Given the description of an element on the screen output the (x, y) to click on. 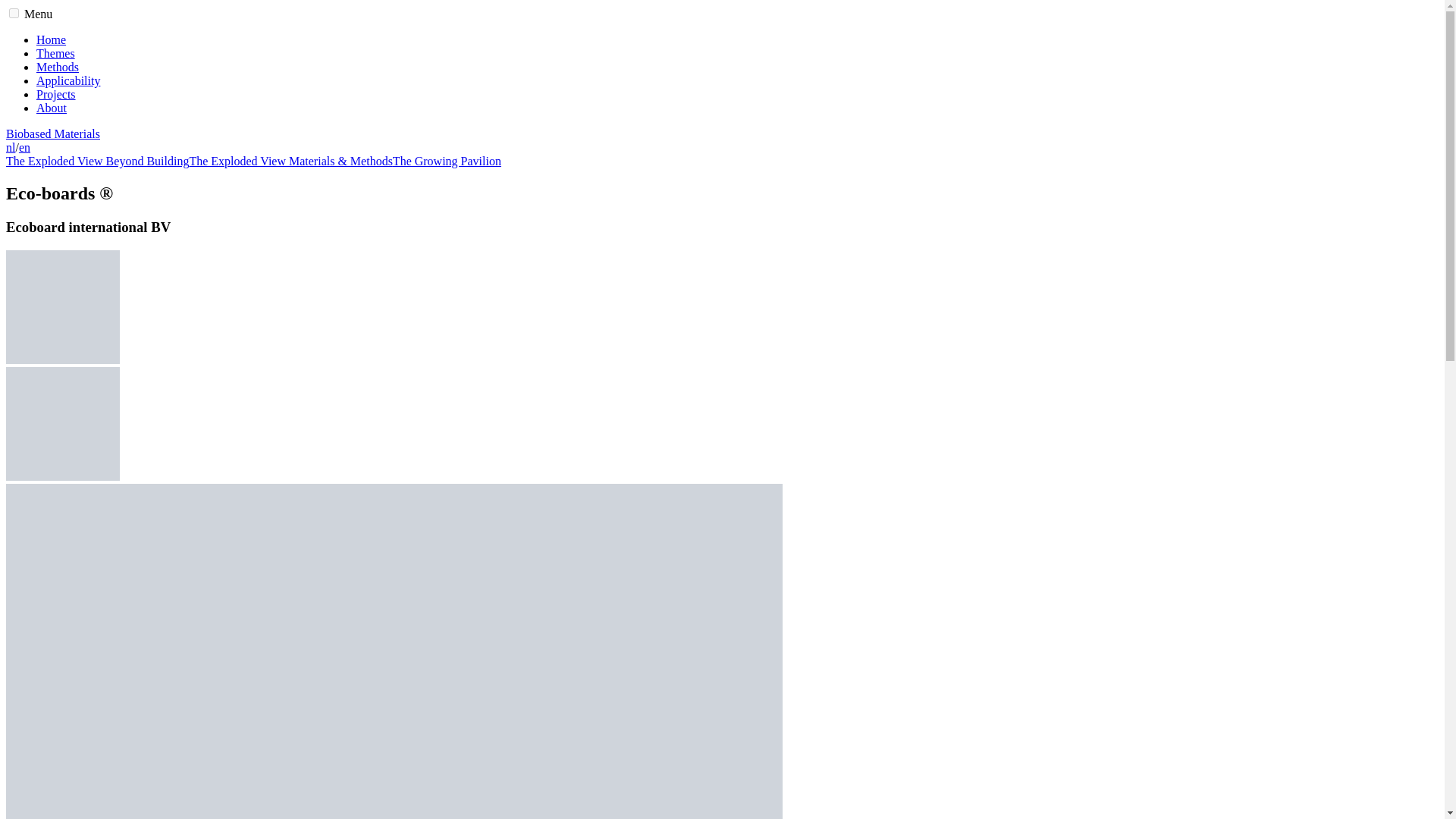
Biobased Materials (52, 133)
Methods (57, 66)
Projects (55, 93)
Home (50, 39)
Themes (55, 52)
The Growing Pavilion (446, 160)
The Exploded View Beyond Building (97, 160)
About (51, 107)
Applicability (68, 80)
on (13, 13)
